Given the description of an element on the screen output the (x, y) to click on. 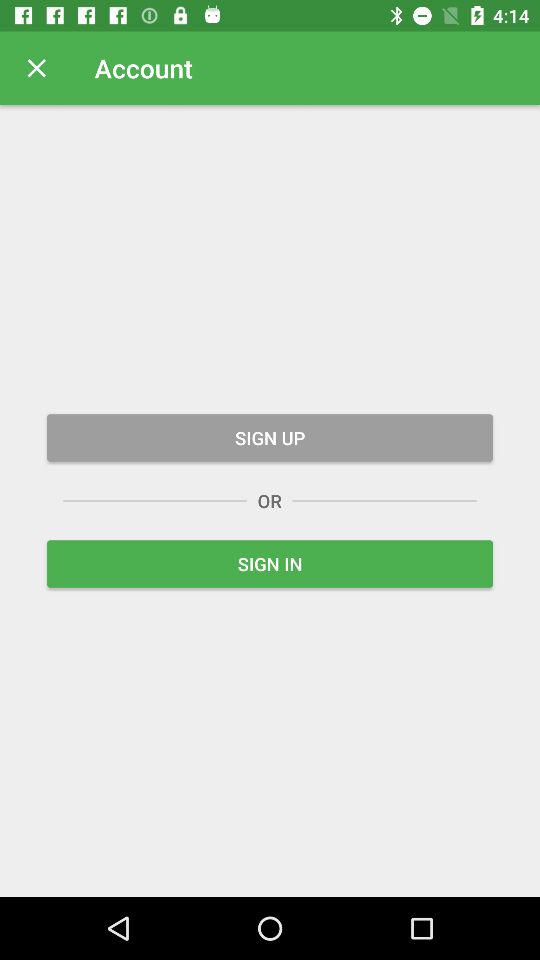
tap the icon below or (269, 563)
